Given the description of an element on the screen output the (x, y) to click on. 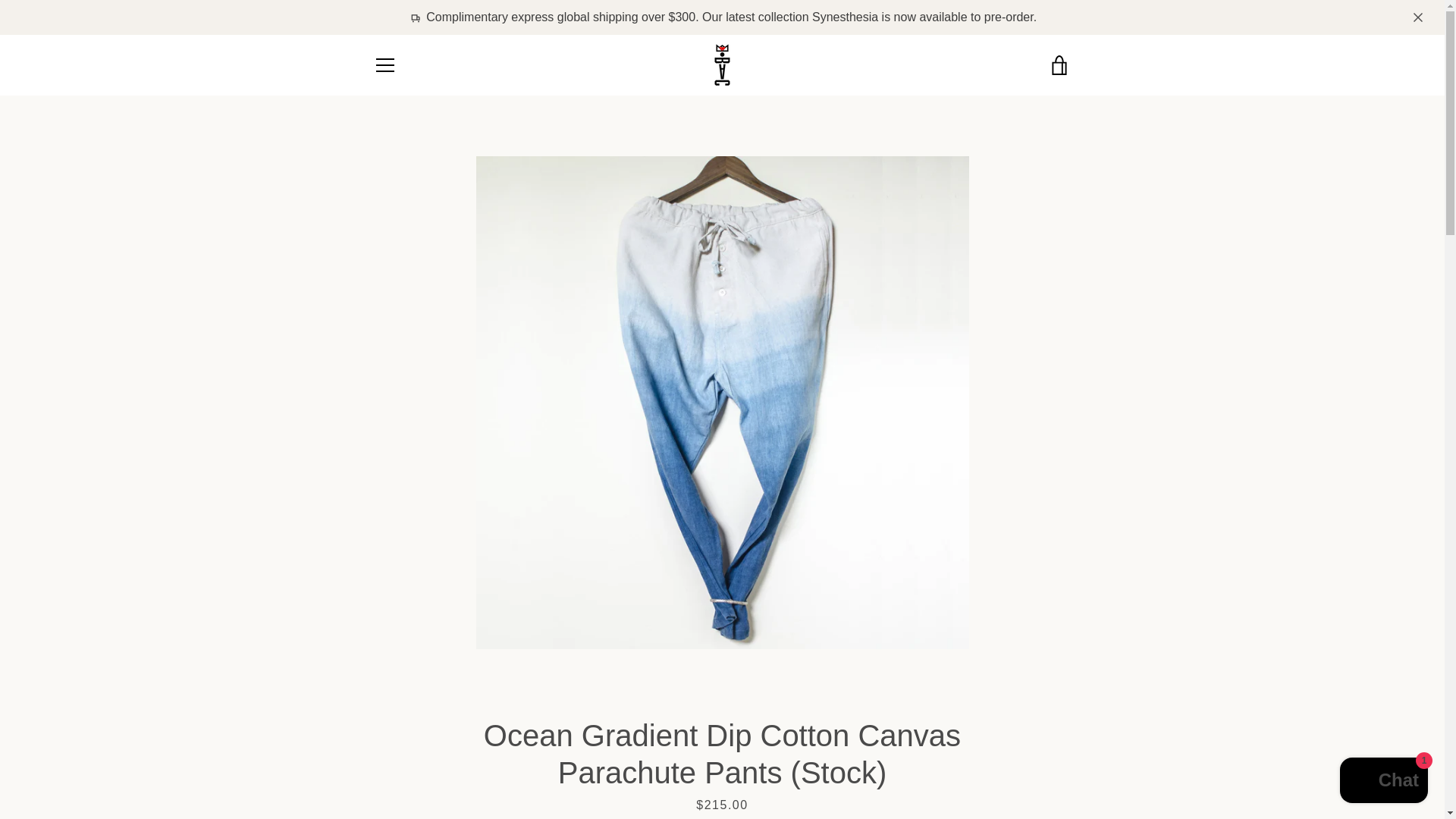
Mastercard (988, 778)
American Express (883, 755)
Bodies As Clothing on Instagram (372, 765)
Discover (988, 755)
Diners Club (953, 755)
Meta Pay (1022, 755)
Visa (1057, 778)
Apple Pay (918, 755)
Shop Pay (1022, 778)
MENU (384, 64)
Shopify online store chat (1383, 781)
Google Pay (1057, 755)
